Given the description of an element on the screen output the (x, y) to click on. 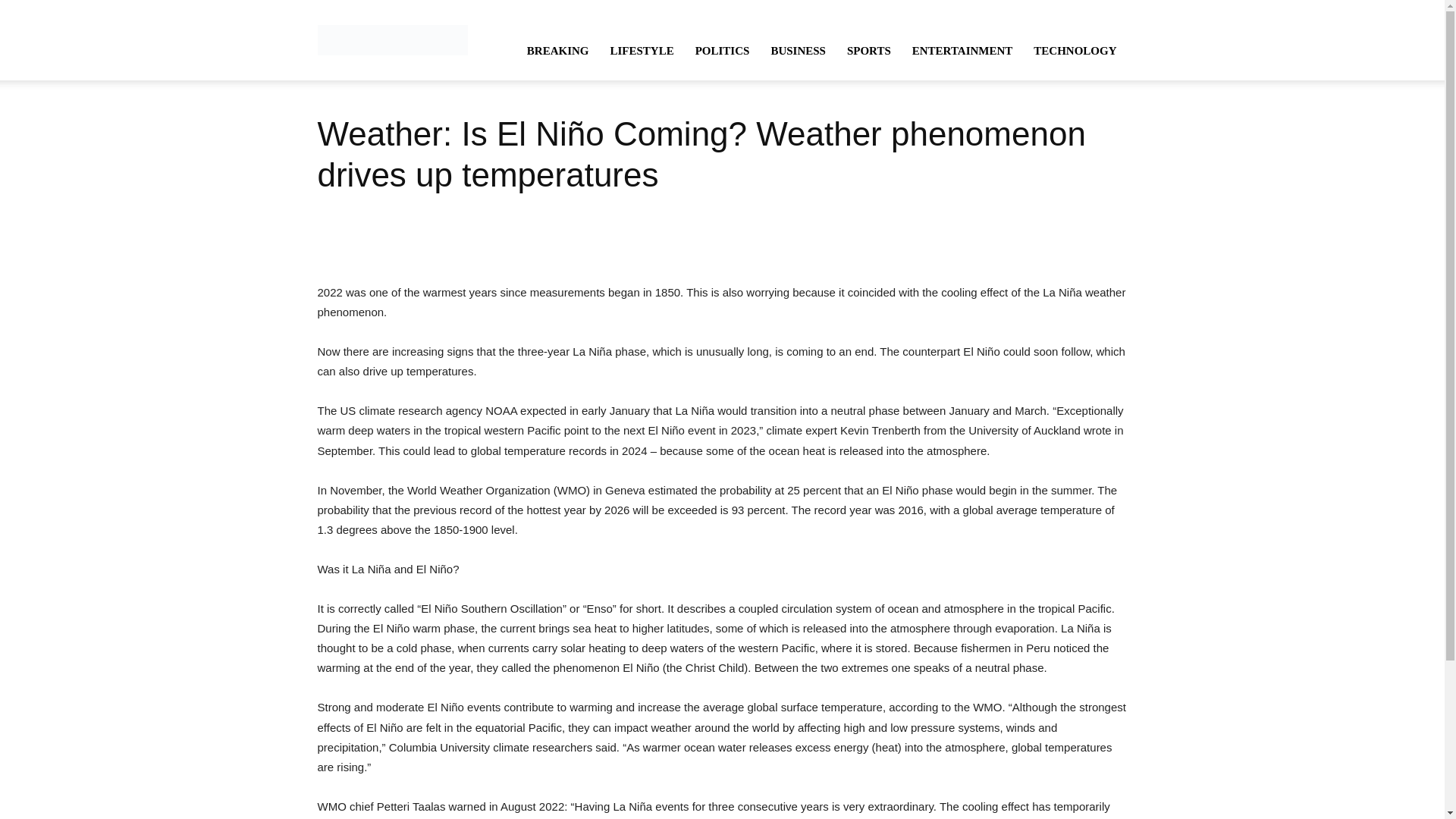
BREAKING (557, 50)
BUSINESS (797, 50)
Indo Newyork (392, 39)
LIFESTYLE (641, 50)
TECHNOLOGY (1074, 50)
ENTERTAINMENT (962, 50)
SPORTS (868, 50)
POLITICS (722, 50)
